Given the description of an element on the screen output the (x, y) to click on. 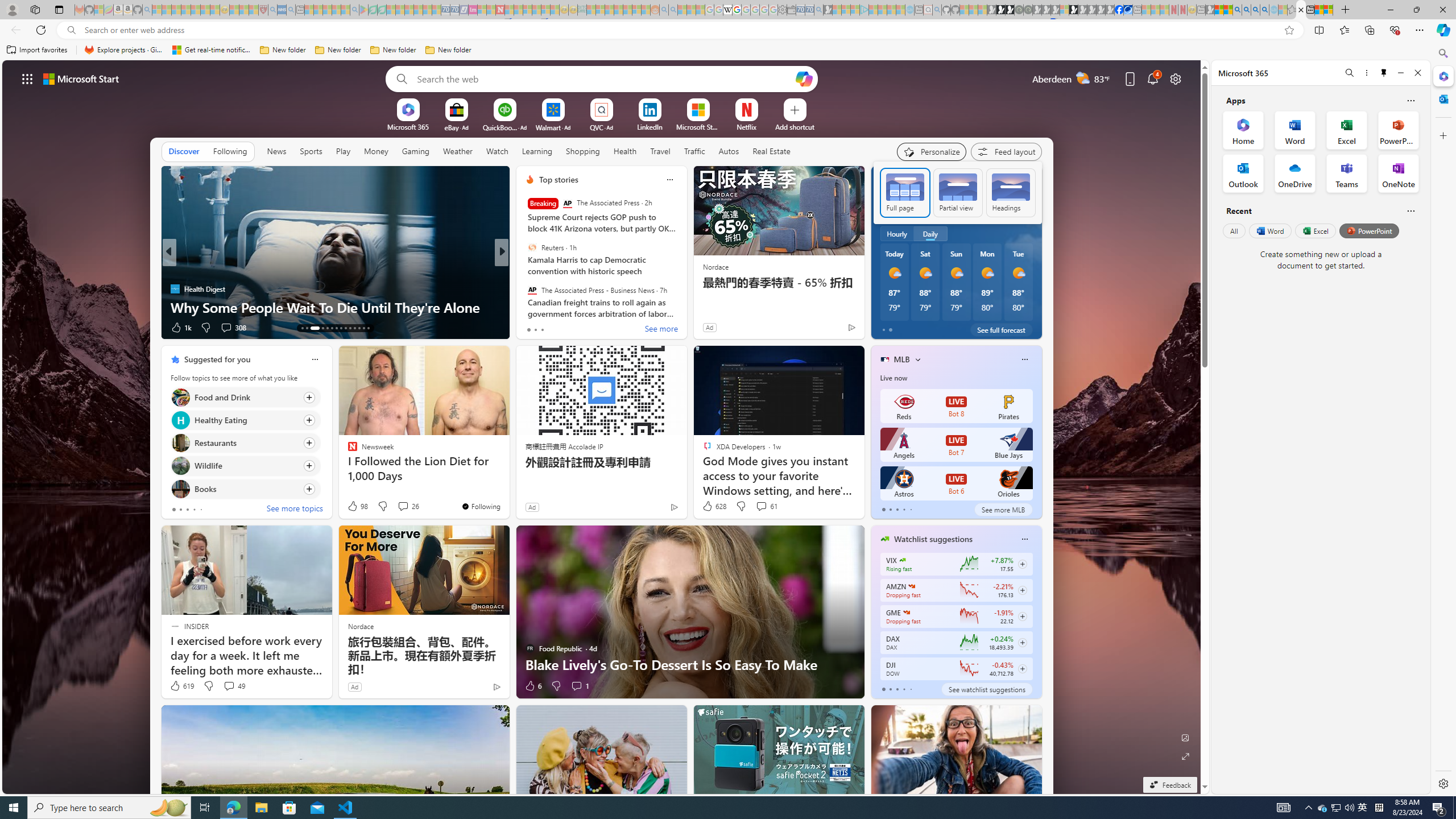
Bing Real Estate - Home sales and rental listings - Sleeping (818, 9)
54 Like (530, 327)
Gaming (415, 151)
Excel Office App (1346, 129)
MSNBC - MSN - Sleeping (590, 9)
View comments 81 Comment (580, 327)
AutomationID: feedSettings (957, 192)
tab-4 (910, 689)
Real Estate (771, 151)
Close Microsoft 365 pane (1442, 76)
